Given the description of an element on the screen output the (x, y) to click on. 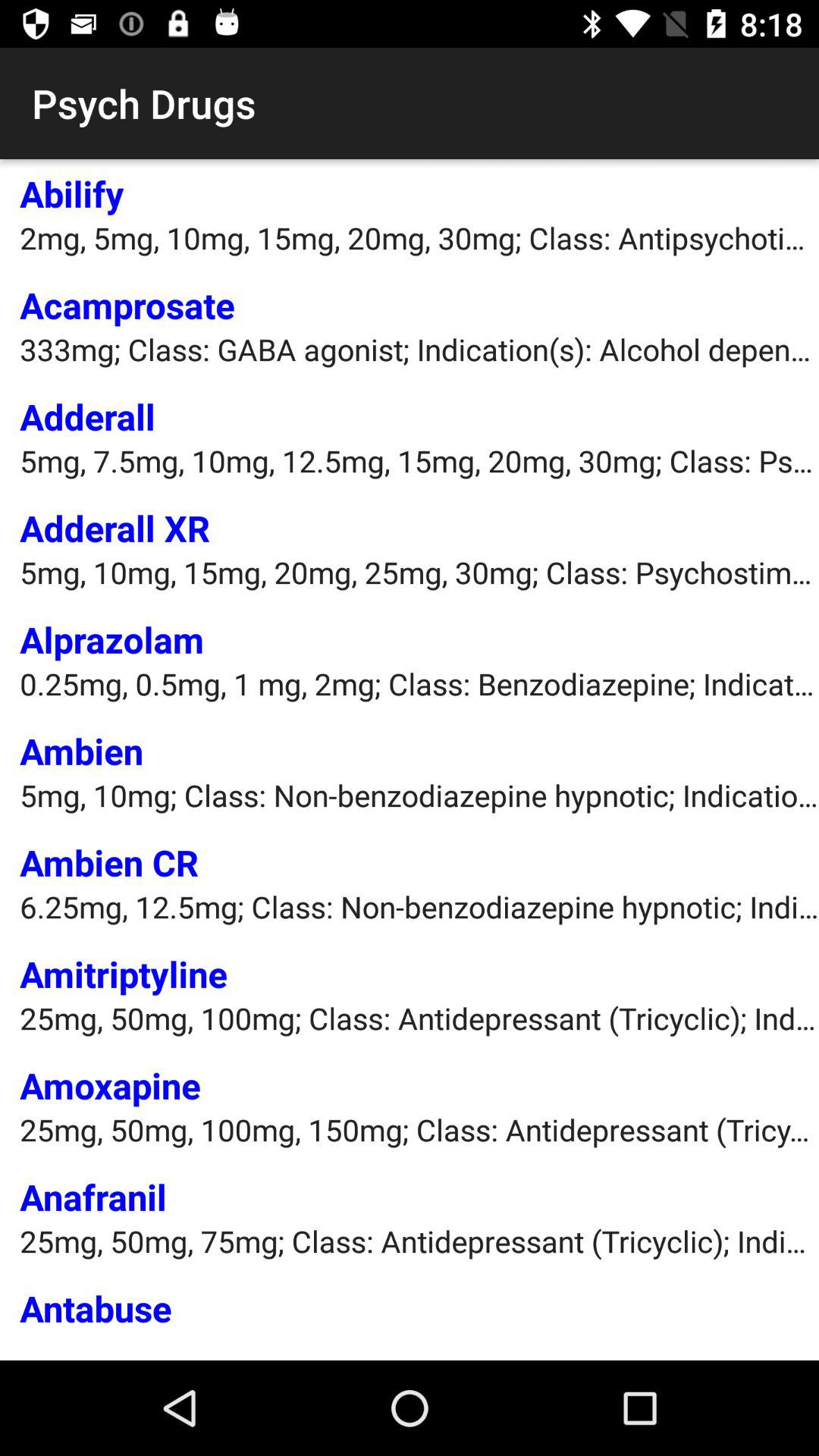
click the item above adderall app (419, 349)
